Given the description of an element on the screen output the (x, y) to click on. 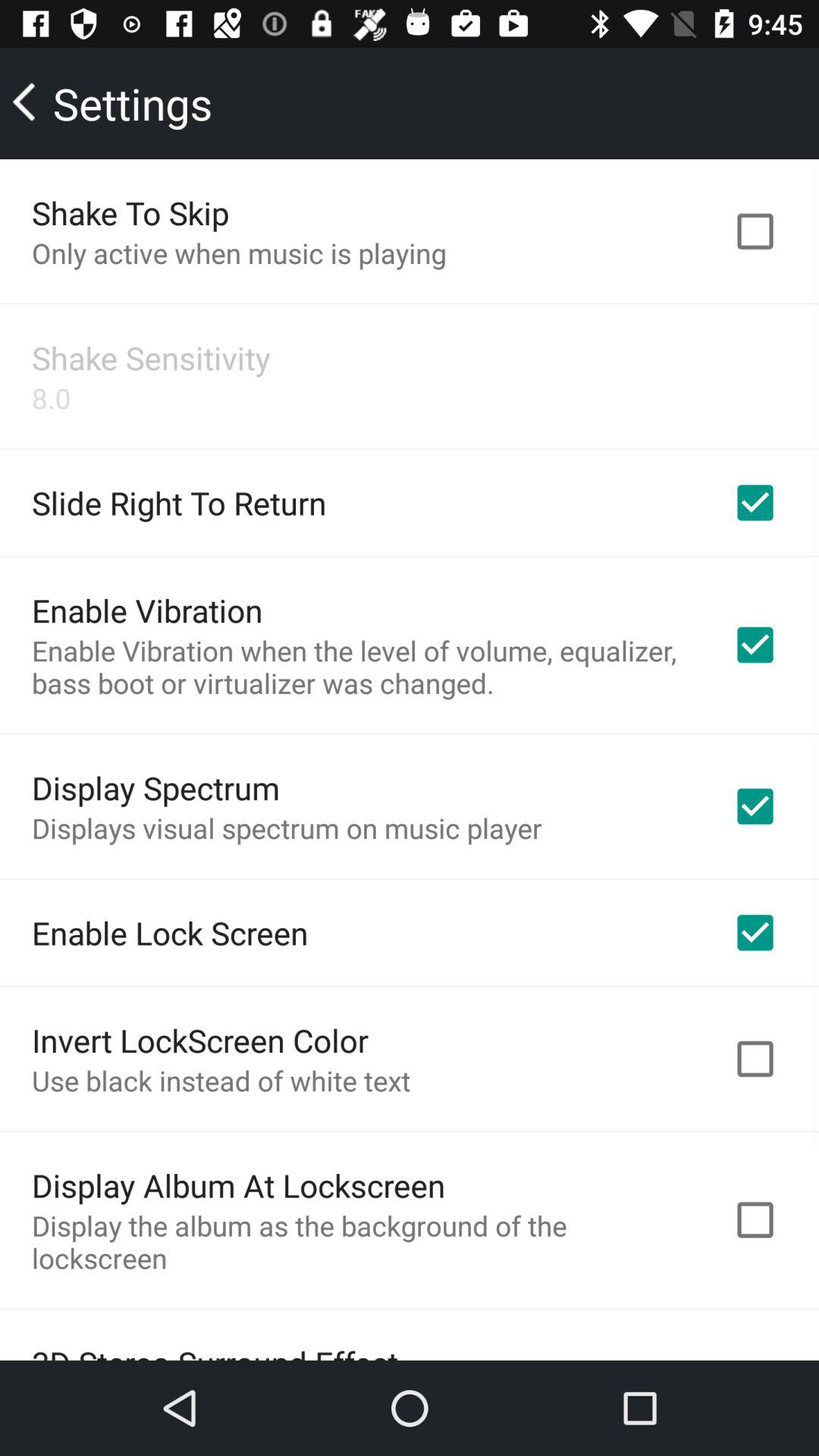
select settings app (114, 103)
